Given the description of an element on the screen output the (x, y) to click on. 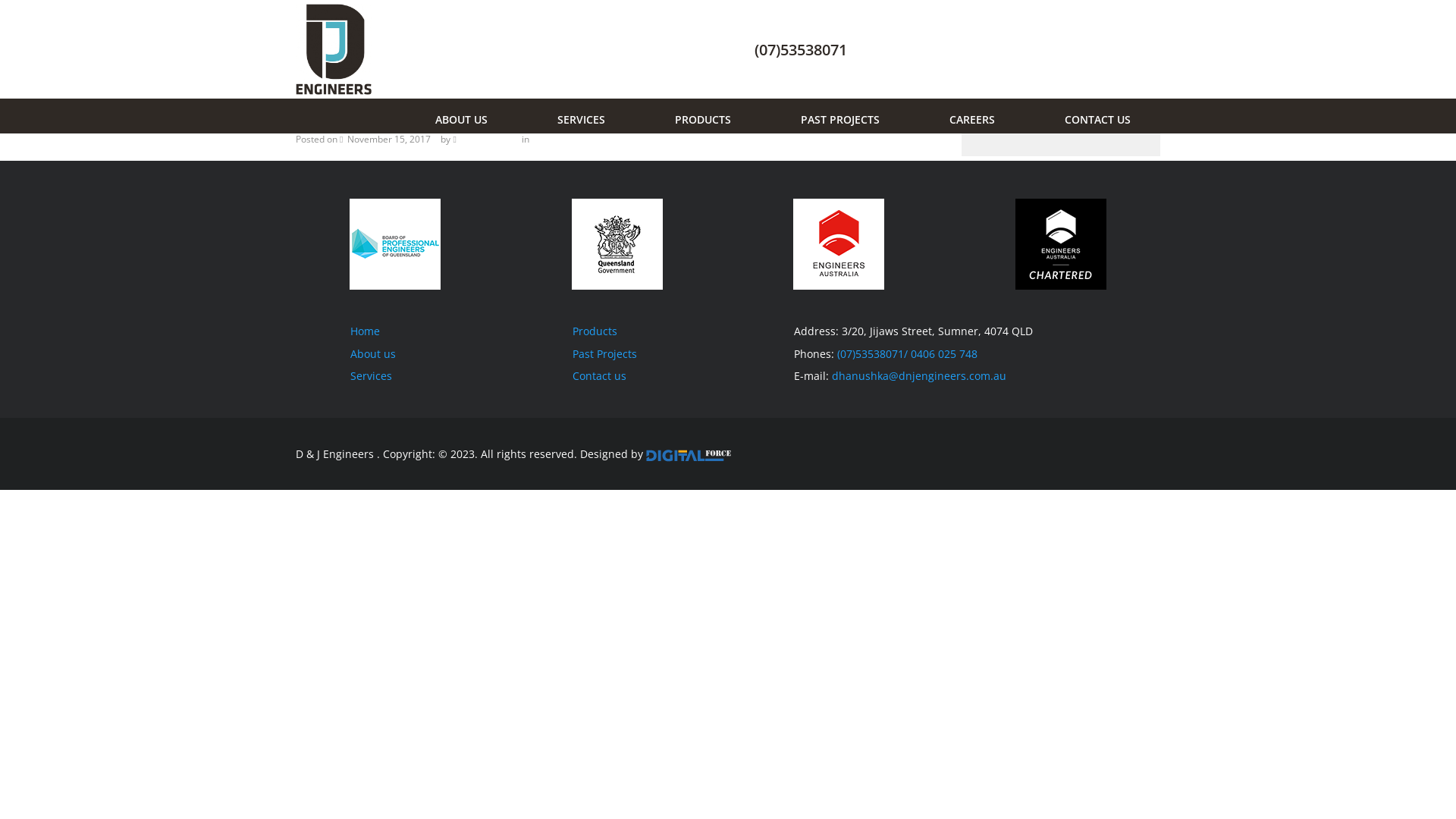
dhanushka@dnjengineers.com.au Element type: text (918, 375)
About us Element type: text (372, 353)
Services Element type: text (371, 375)
Facebook Element type: text (1075, 453)
Products Element type: text (593, 330)
Twitter Element type: text (1143, 49)
ABOUT US Element type: text (457, 115)
SERVICES Element type: text (577, 115)
Past Projects Element type: text (603, 353)
Instagram Element type: text (1123, 453)
Home Element type: text (364, 330)
PAST PROJECTS Element type: text (836, 115)
(07)53538071/ 0406 025 748 Element type: text (907, 353)
(07)53538071 Element type: text (800, 49)
Facebook Element type: text (1045, 49)
Twitter Element type: text (1147, 453)
Contact us Element type: text (598, 375)
superadmin Element type: text (486, 138)
CONTACT US Element type: text (1093, 115)
LinkedIn Element type: text (1078, 49)
LinkedIn Element type: text (1099, 453)
PRODUCTS Element type: text (699, 115)
CAREERS Element type: text (967, 115)
Instagram Element type: text (1111, 49)
